Given the description of an element on the screen output the (x, y) to click on. 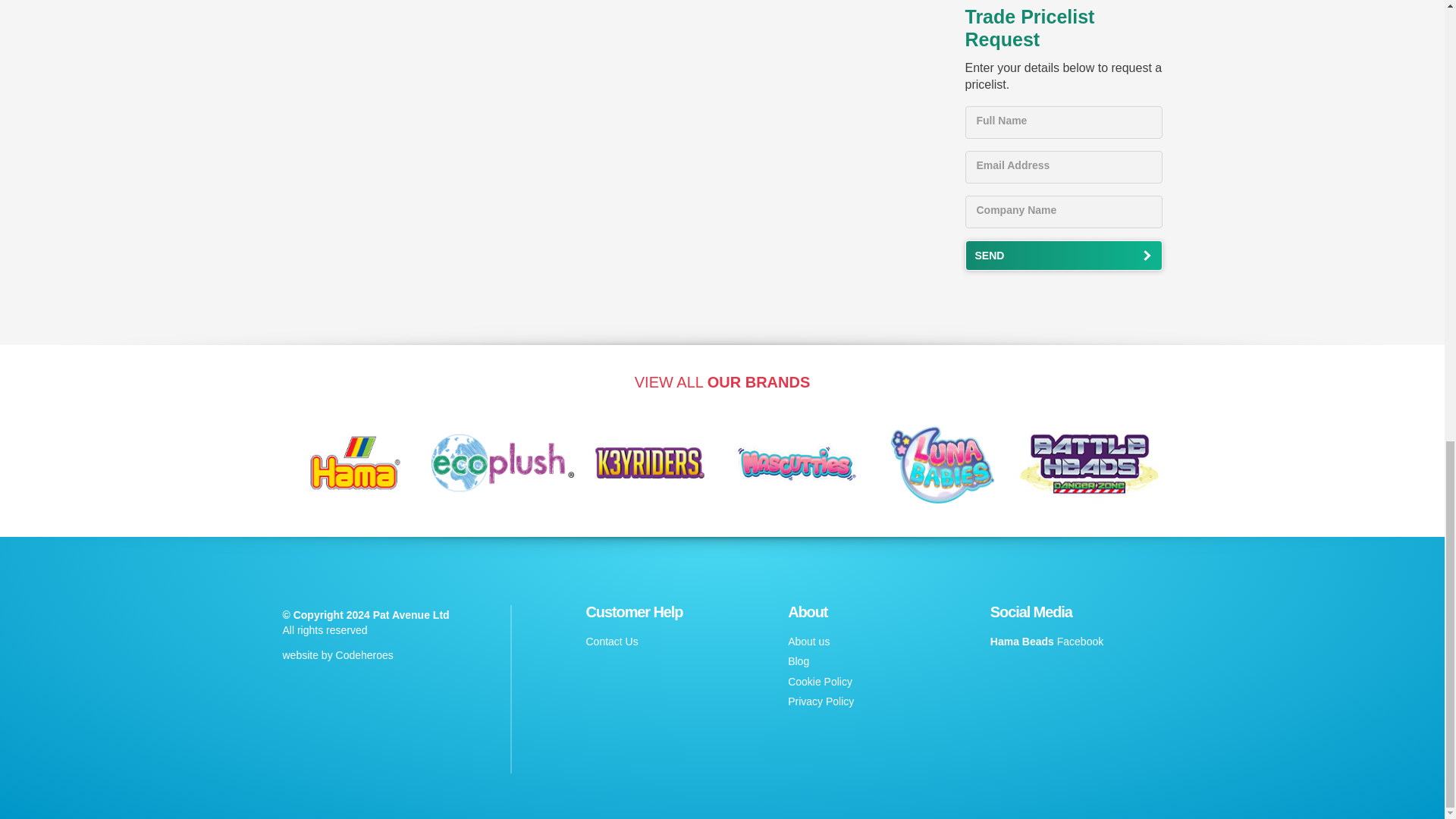
SEND (1062, 255)
About us (808, 641)
Cookie Policy (819, 681)
Blog (798, 661)
Shop Hama Beads (355, 411)
Privacy Policy (820, 701)
Contact Us (611, 641)
